Given the description of an element on the screen output the (x, y) to click on. 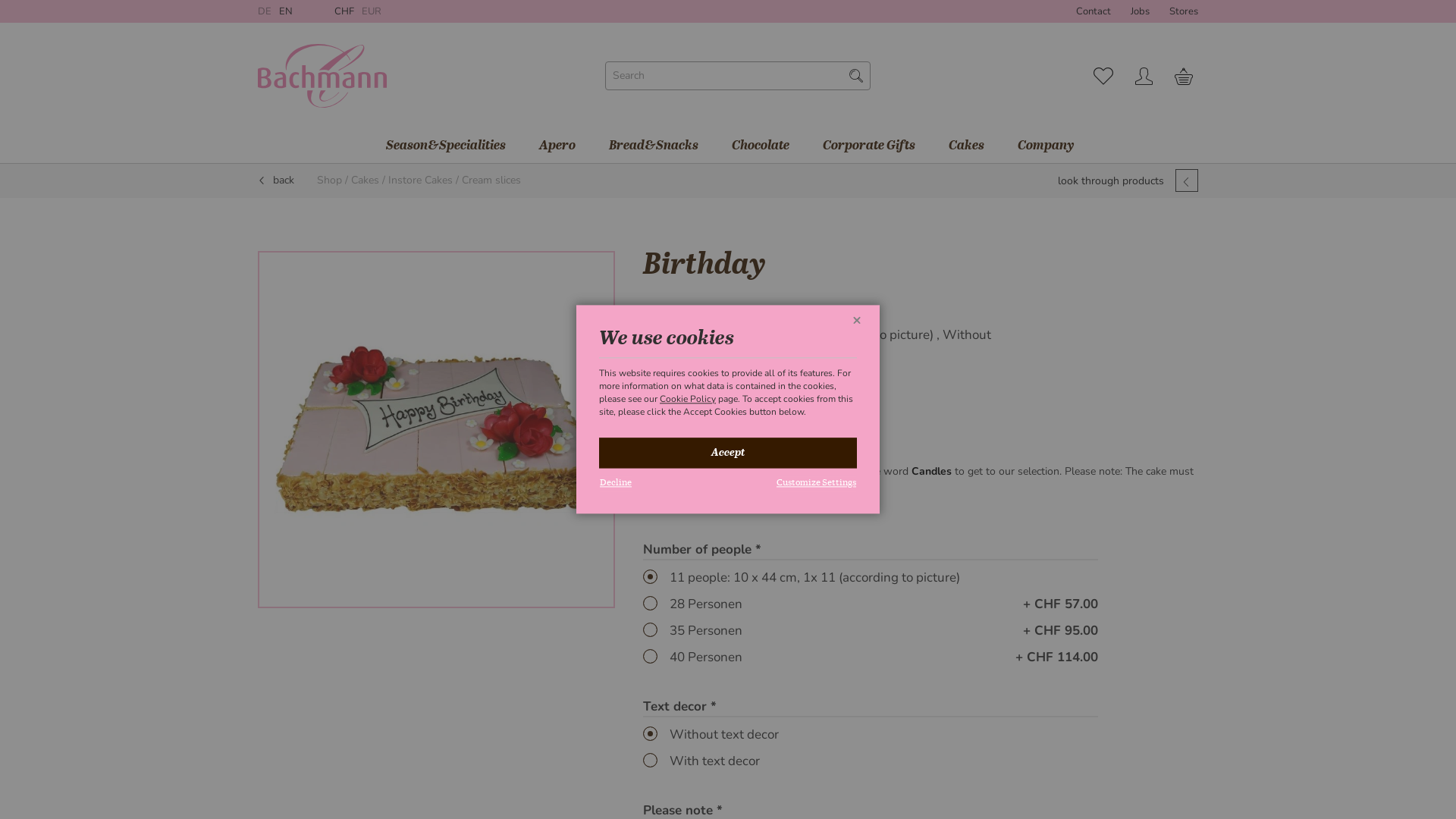
CHF Element type: text (344, 11)
Apero Element type: text (554, 145)
Instore Cakes Element type: text (420, 179)
EUR Element type: text (371, 11)
Accept Element type: text (727, 453)
Stores Element type: text (1183, 11)
DE Element type: text (264, 11)
Cakes Element type: text (963, 145)
Decline Element type: text (615, 483)
back Element type: text (275, 180)
Cookie Policy Element type: text (687, 398)
Candles Element type: text (931, 471)
look through products Element type: text (1110, 180)
Jobs Element type: text (1139, 11)
Cakes Element type: text (365, 179)
Season&Specialities Element type: text (443, 145)
Confiserie Bachmann Element type: hover (321, 75)
EN Element type: text (285, 11)
Company Element type: text (1043, 145)
Search Element type: hover (855, 75)
Customize Settings Element type: text (815, 483)
Contact Element type: text (1093, 11)
Bread&Snacks Element type: text (650, 145)
Corporate Gifts Element type: text (866, 145)
Shop Element type: text (329, 179)
Chocolate Element type: text (757, 145)
Cream slices Element type: text (490, 179)
